Given the description of an element on the screen output the (x, y) to click on. 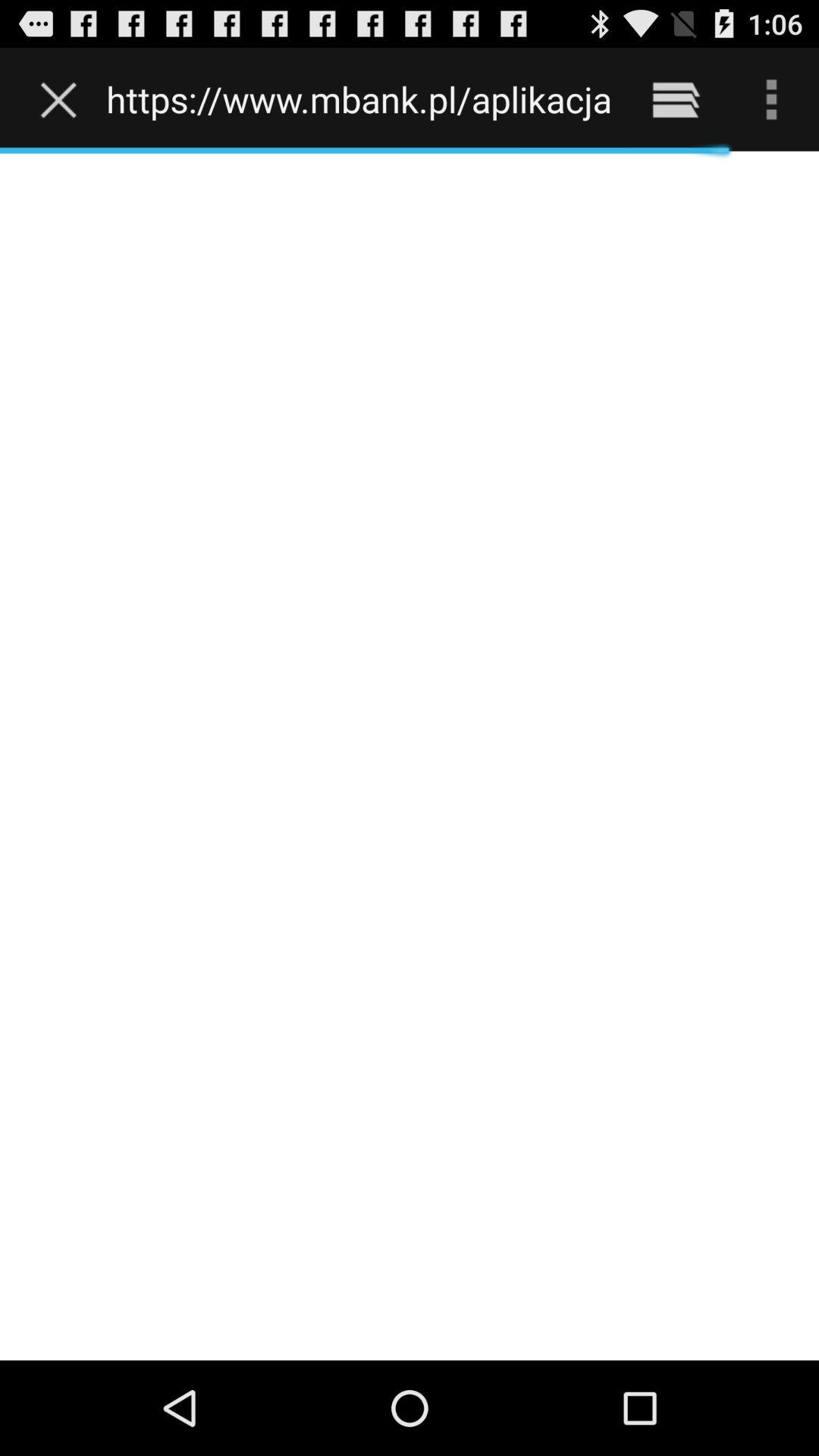
choose the item to the right of the https www mbank item (675, 99)
